Given the description of an element on the screen output the (x, y) to click on. 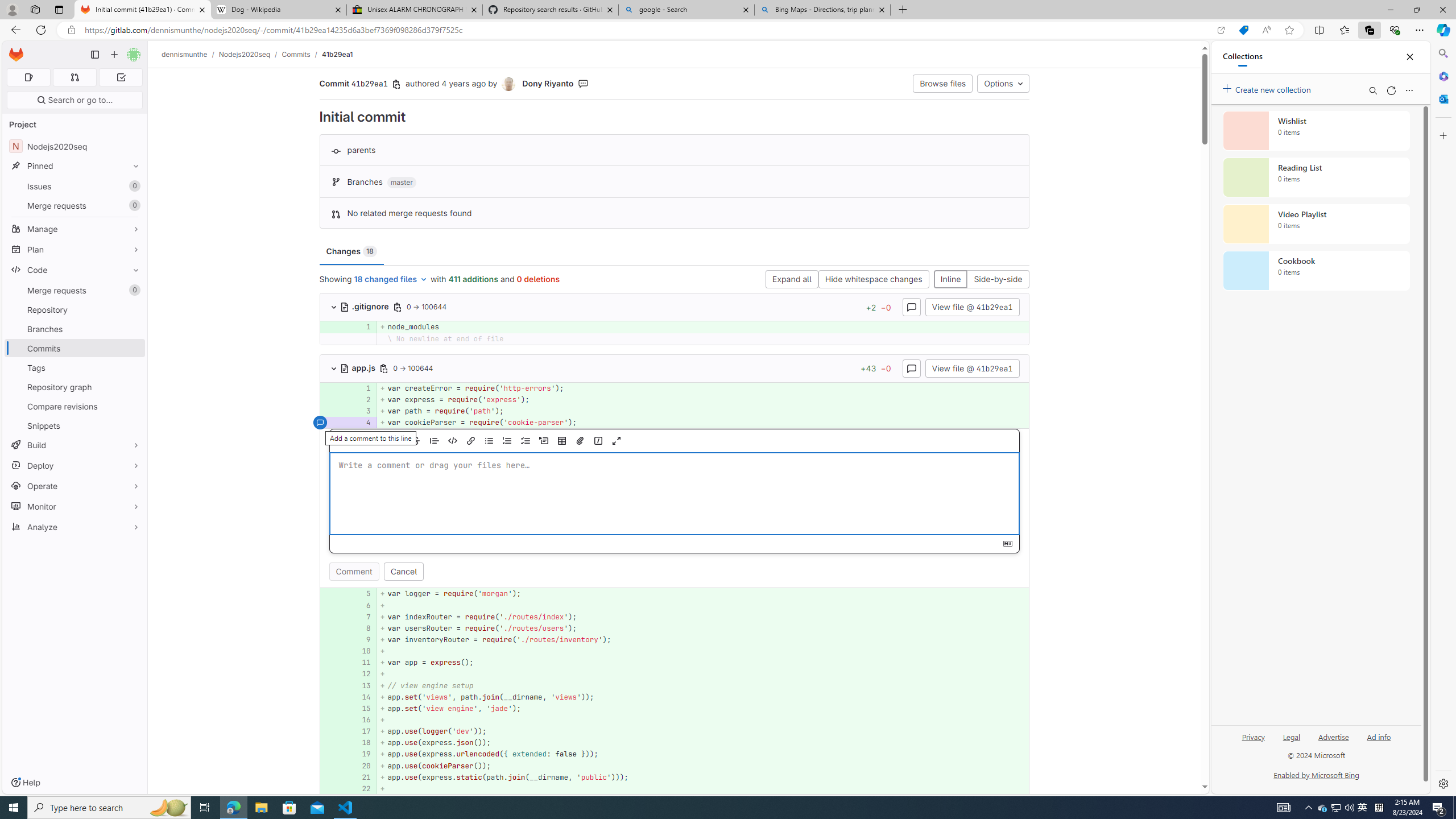
Add a quick action (598, 440)
Side-by-side (997, 279)
2 (360, 399)
+ // view engine setup  (703, 685)
8 (362, 627)
Go full screen (616, 440)
Nodejs2020seq (244, 53)
More options menu (1409, 90)
Attach a file or image (579, 440)
Repository graph (74, 386)
Hide whitespace changes (873, 279)
AutomationID: 4a68969ef8e858229267b842dedf42ab5dde4d50_0_3 (674, 410)
